Given the description of an element on the screen output the (x, y) to click on. 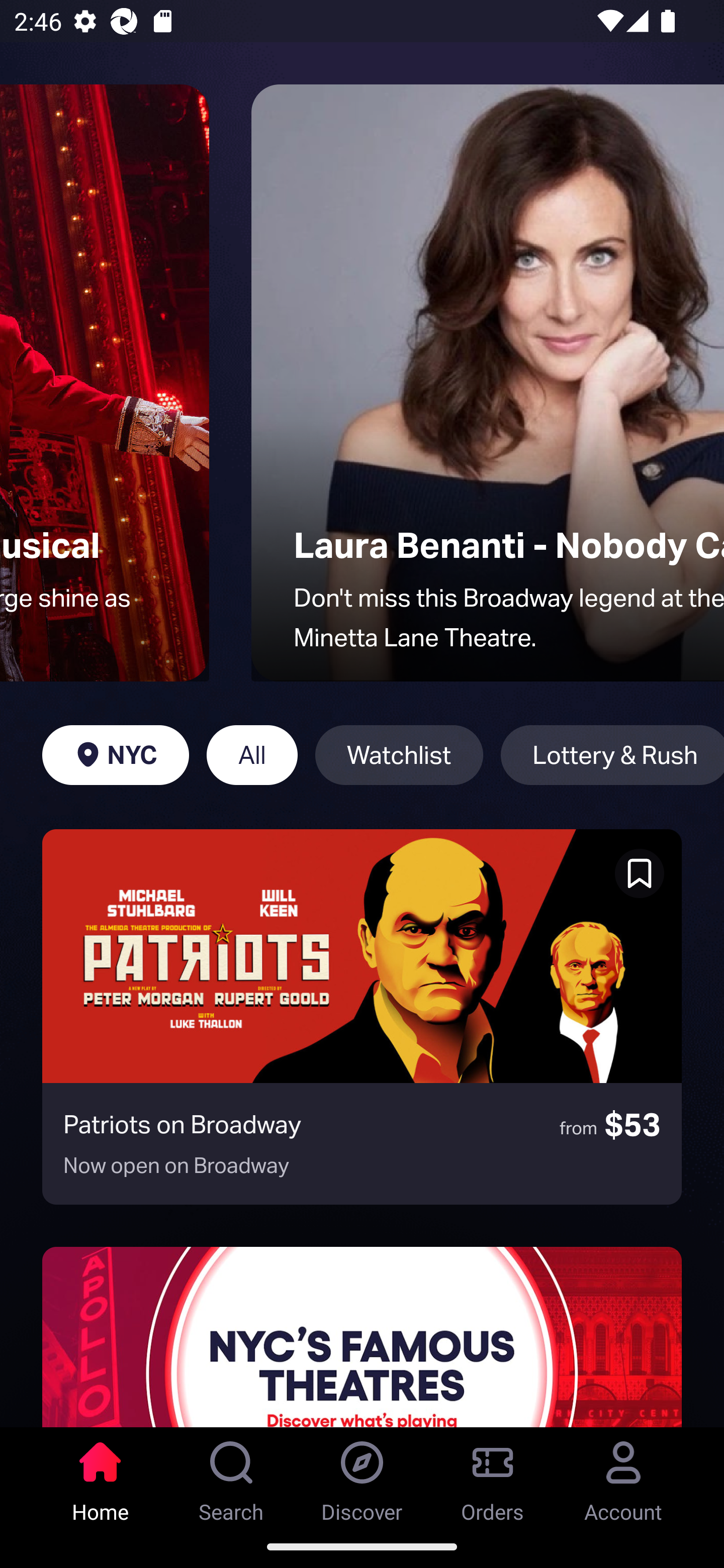
NYC (114, 754)
All (251, 754)
Watchlist (398, 754)
Lottery & Rush (612, 754)
Patriots on Broadway from $53 Now open on Broadway (361, 1016)
Search (230, 1475)
Discover (361, 1475)
Orders (492, 1475)
Account (623, 1475)
